Given the description of an element on the screen output the (x, y) to click on. 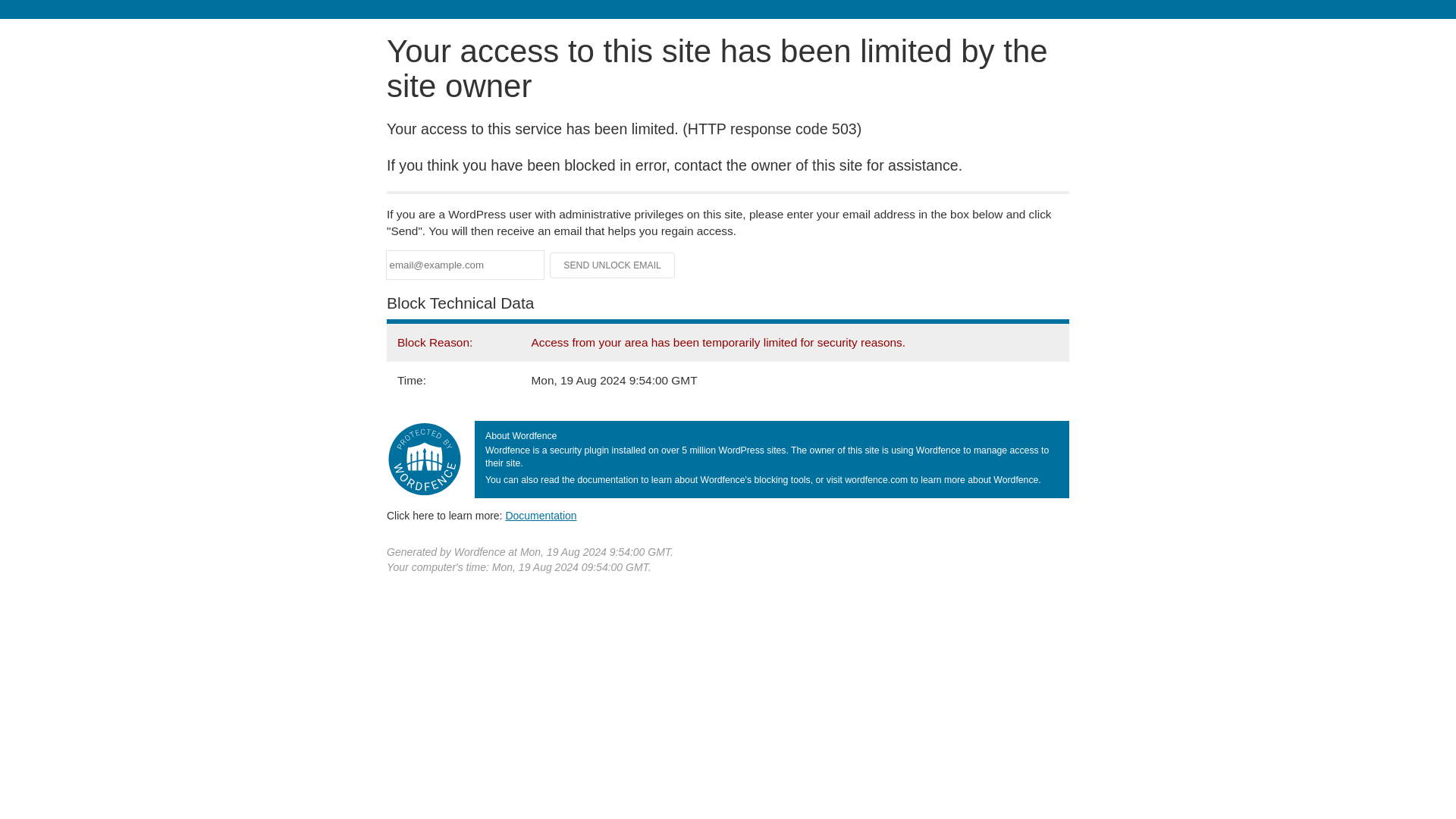
Send Unlock Email (612, 265)
Documentation (540, 515)
Send Unlock Email (612, 265)
